Given the description of an element on the screen output the (x, y) to click on. 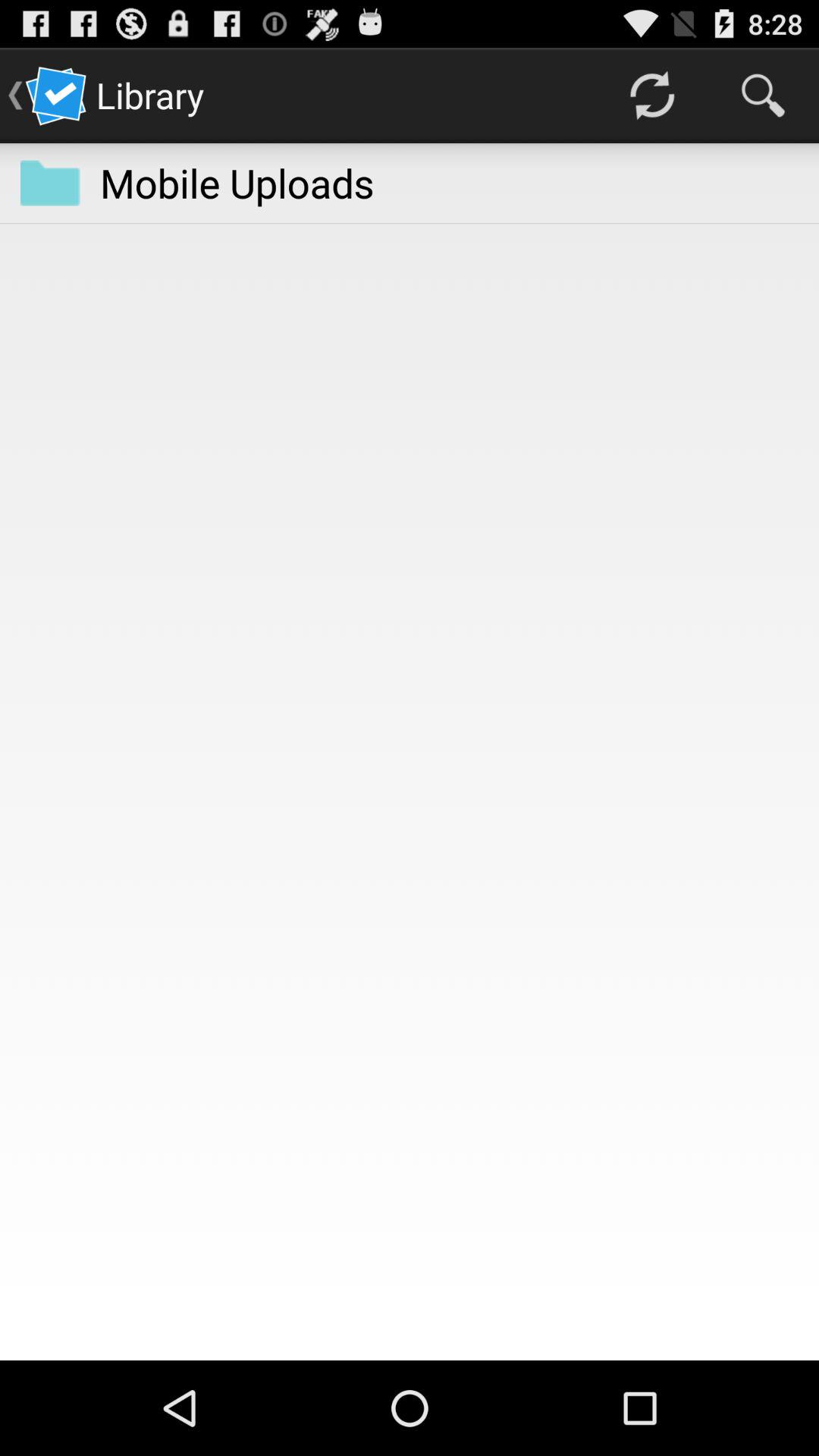
open the item to the right of the mobile uploads (651, 95)
